Given the description of an element on the screen output the (x, y) to click on. 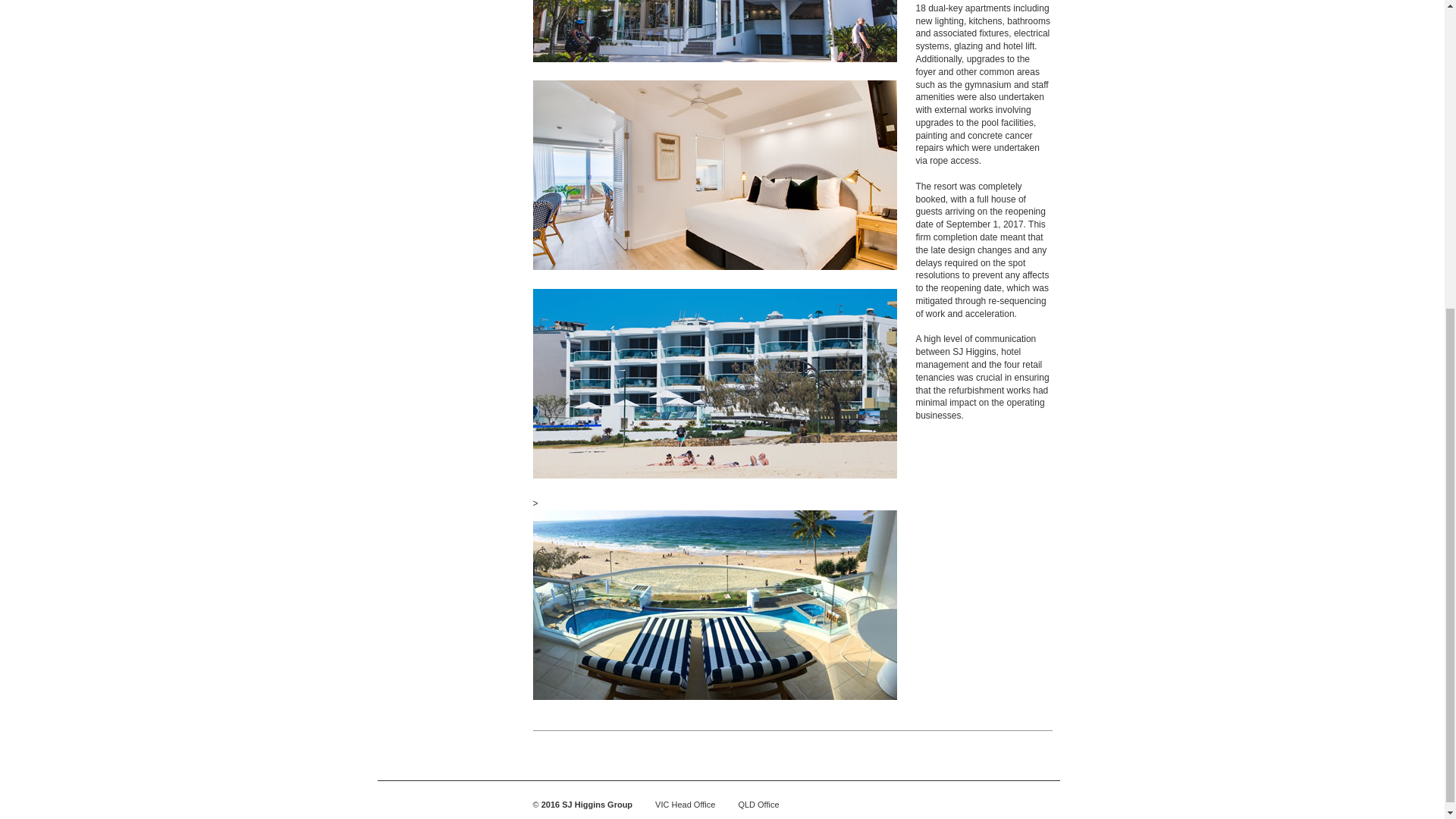
VIC Head Office (684, 804)
QLD Office (758, 804)
